Given the description of an element on the screen output the (x, y) to click on. 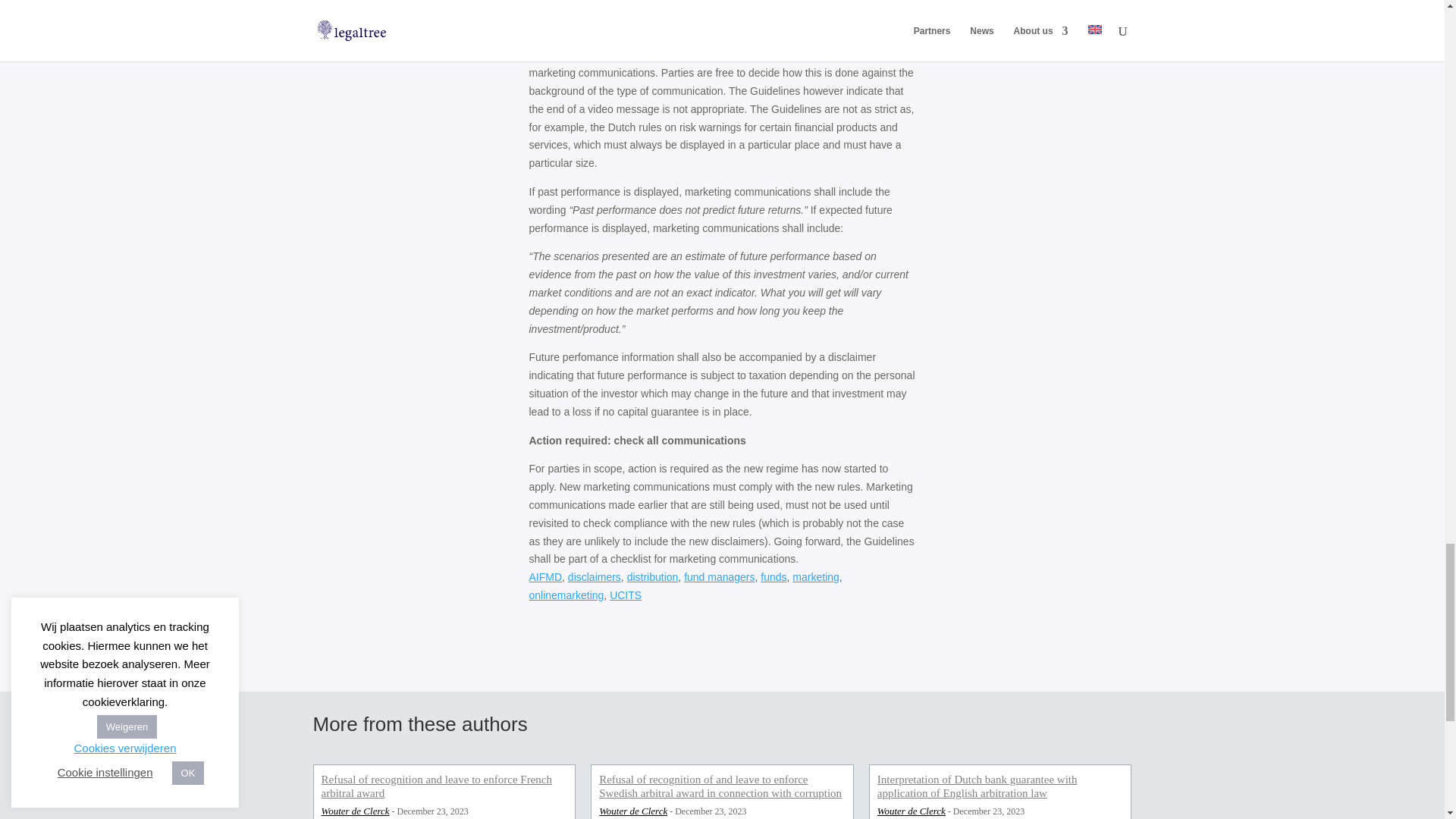
marketing (815, 576)
fund managers (719, 576)
onlinemarketing (566, 594)
Wouter de Clerck (355, 812)
AIFMD (545, 576)
funds (773, 576)
Wouter de Clerck (910, 812)
UCITS (626, 594)
Wouter de Clerck (632, 812)
distribution (652, 576)
disclaimers (594, 576)
